Given the description of an element on the screen output the (x, y) to click on. 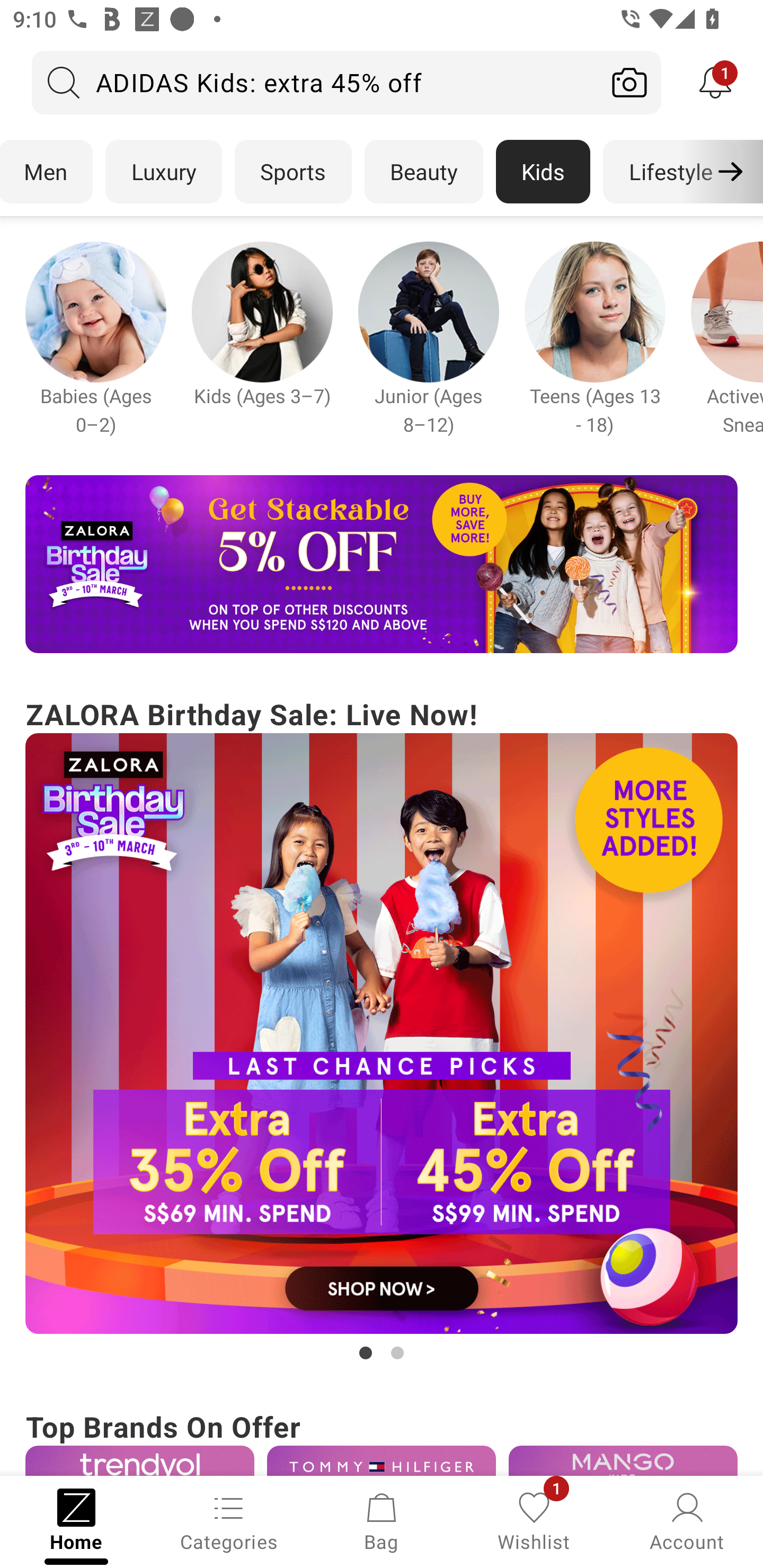
ADIDAS Kids: extra 45% off (314, 82)
Men (46, 171)
Luxury (163, 171)
Sports (293, 171)
Beauty (423, 171)
Kids (542, 171)
Lifestyle (669, 171)
Campaign banner (95, 311)
Campaign banner (261, 311)
Campaign banner (428, 311)
Campaign banner (594, 311)
Campaign banner (381, 564)
ZALORA Birthday Sale: Live Now! Campaign banner (381, 1028)
Campaign banner (381, 1033)
Campaign banner (139, 1460)
Campaign banner (381, 1460)
Campaign banner (622, 1460)
Categories (228, 1519)
Bag (381, 1519)
Wishlist, 1 new notification Wishlist (533, 1519)
Account (686, 1519)
